Given the description of an element on the screen output the (x, y) to click on. 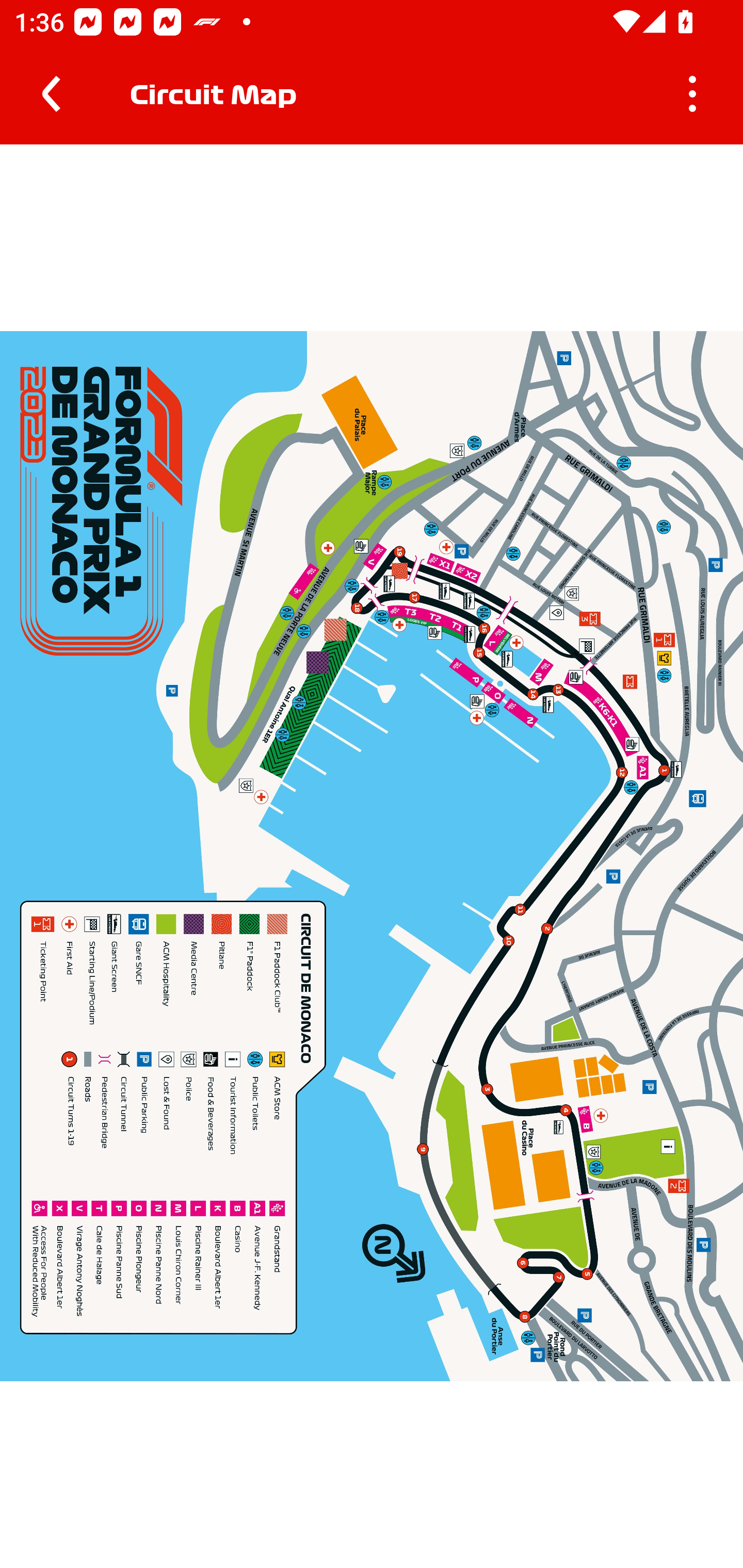
Navigate up (50, 93)
